Given the description of an element on the screen output the (x, y) to click on. 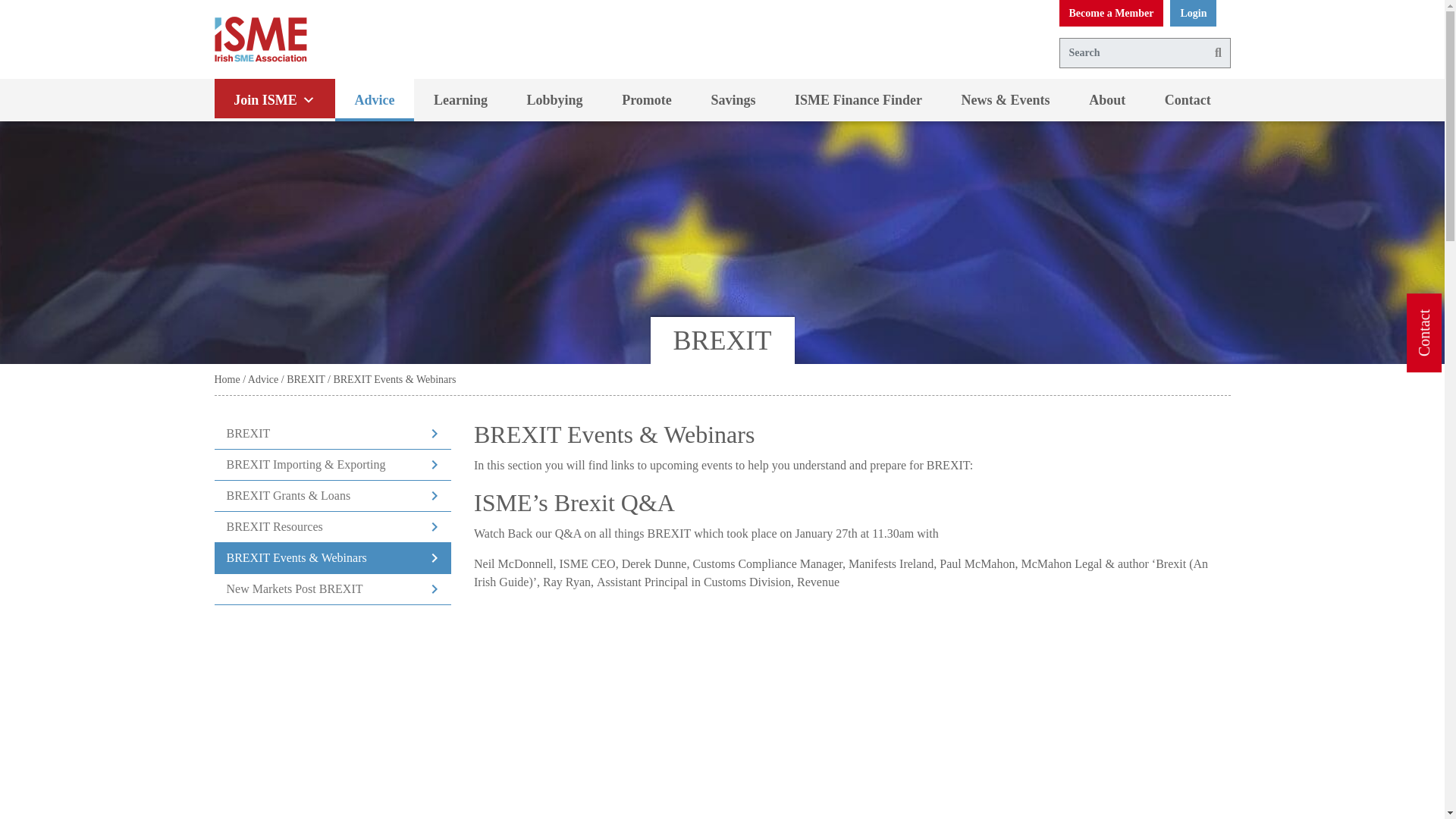
Promote (646, 99)
Join ISME (274, 99)
Learning (459, 99)
Become a Member (1110, 13)
Savings (733, 99)
Lobbying (554, 99)
Advice (374, 99)
Login (1192, 13)
About (1106, 99)
ISME Finance Finder (858, 99)
